Given the description of an element on the screen output the (x, y) to click on. 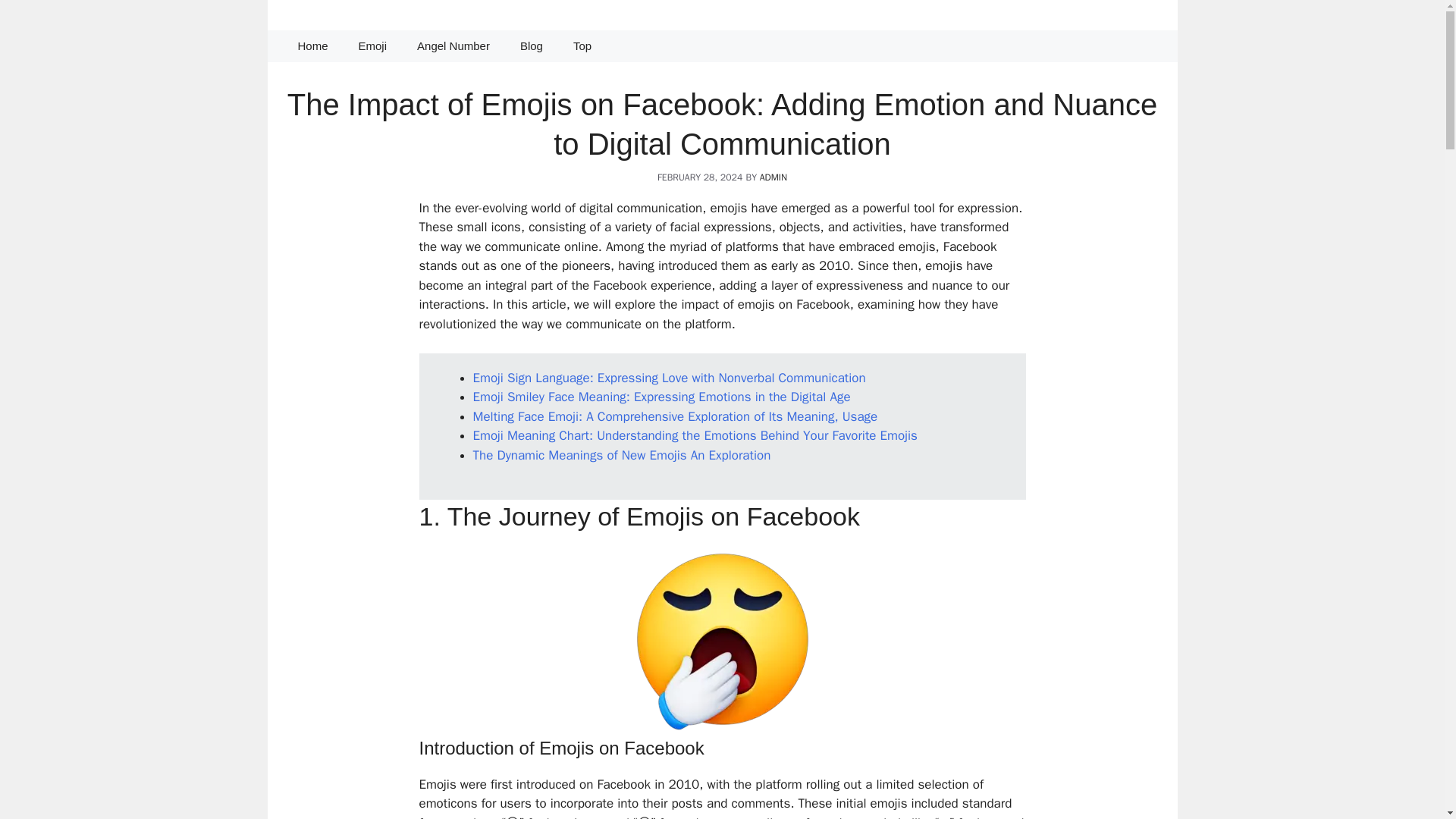
View all posts by admin (773, 177)
ADMIN (773, 177)
Blog (531, 46)
Home (312, 46)
Emoji (373, 46)
Top (582, 46)
